Given the description of an element on the screen output the (x, y) to click on. 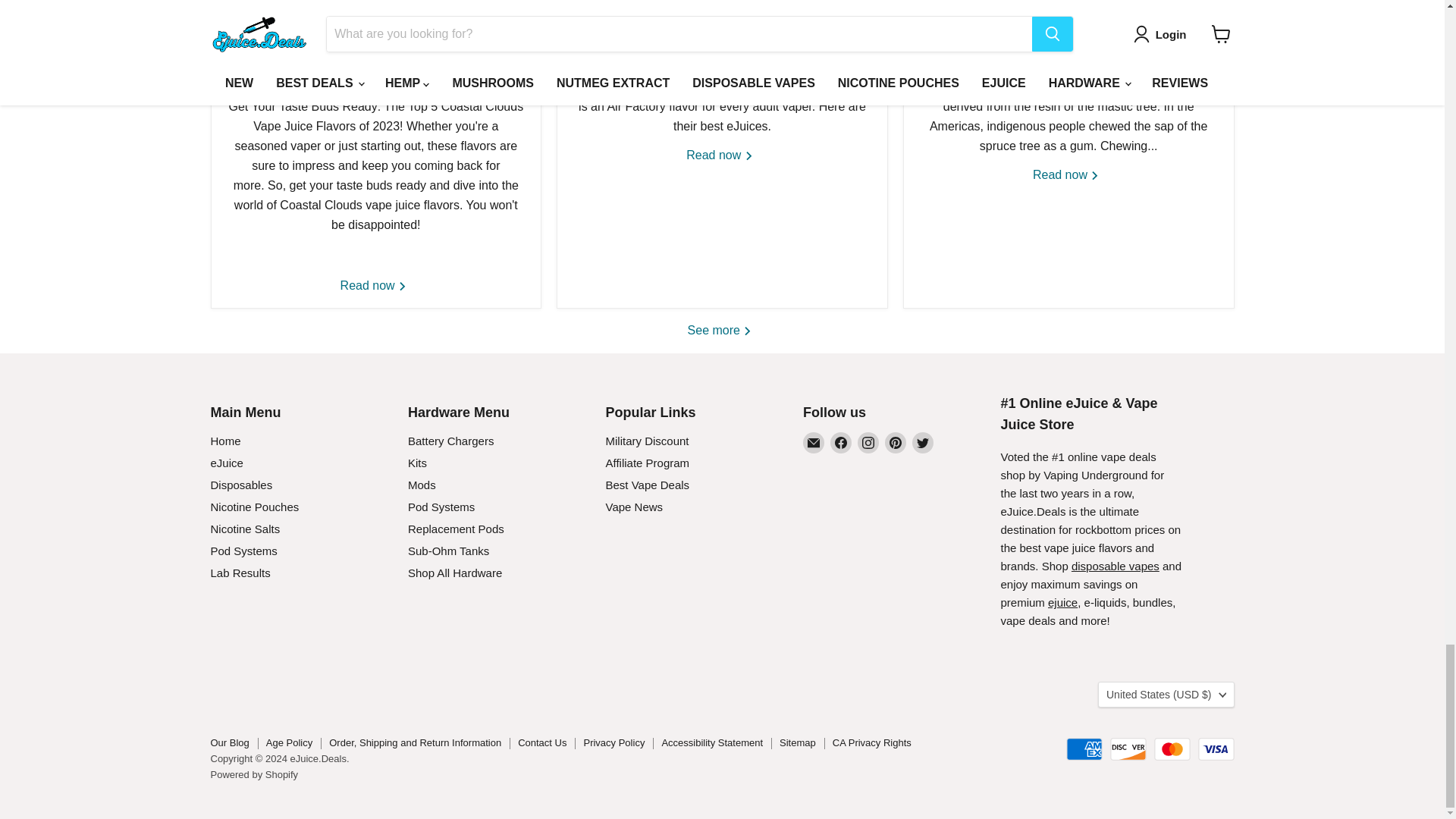
Twitter (922, 442)
Elf Bar (1114, 565)
Instagram (868, 442)
Facebook (840, 442)
Pinterest (895, 442)
Email (813, 442)
eJuice.Deals (1062, 602)
